Given the description of an element on the screen output the (x, y) to click on. 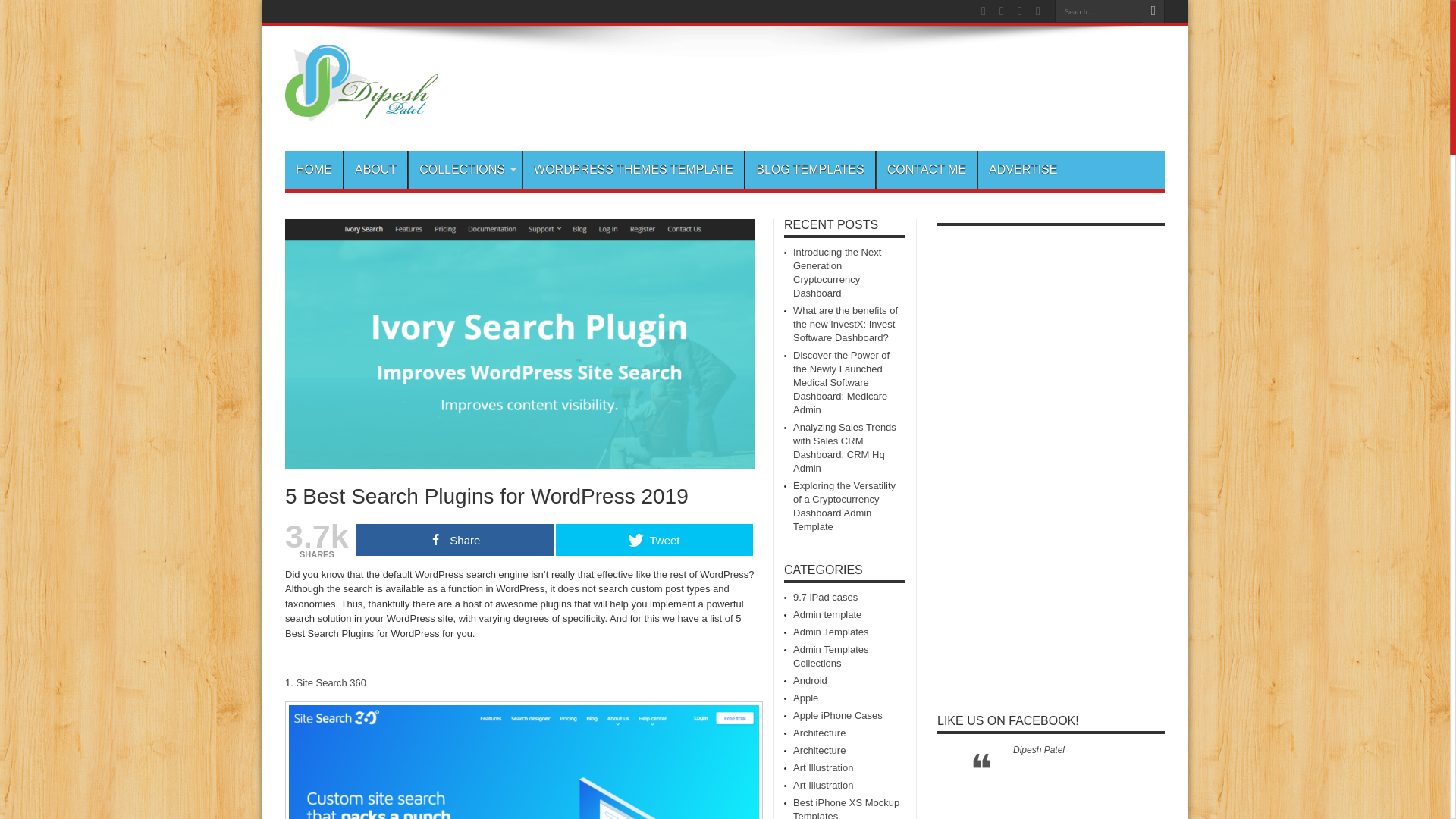
Contact Me (926, 169)
WORDPRESS THEMES TEMPLATE (633, 169)
COLLECTIONS (464, 169)
Admin Templates Collections from ur experts (830, 656)
Web Design Inspiration, Templates, and Development Blog (361, 113)
HOME (313, 169)
Search... (1097, 11)
CONTACT ME (926, 169)
Architecture for WordPress Themes Collections (819, 732)
BLOG TEMPLATES (809, 169)
ABOUT (375, 169)
Architecture for HTML Templates Collections (819, 749)
ADVERTISE (1021, 169)
Site Search 360 (330, 682)
Search (1152, 11)
